Given the description of an element on the screen output the (x, y) to click on. 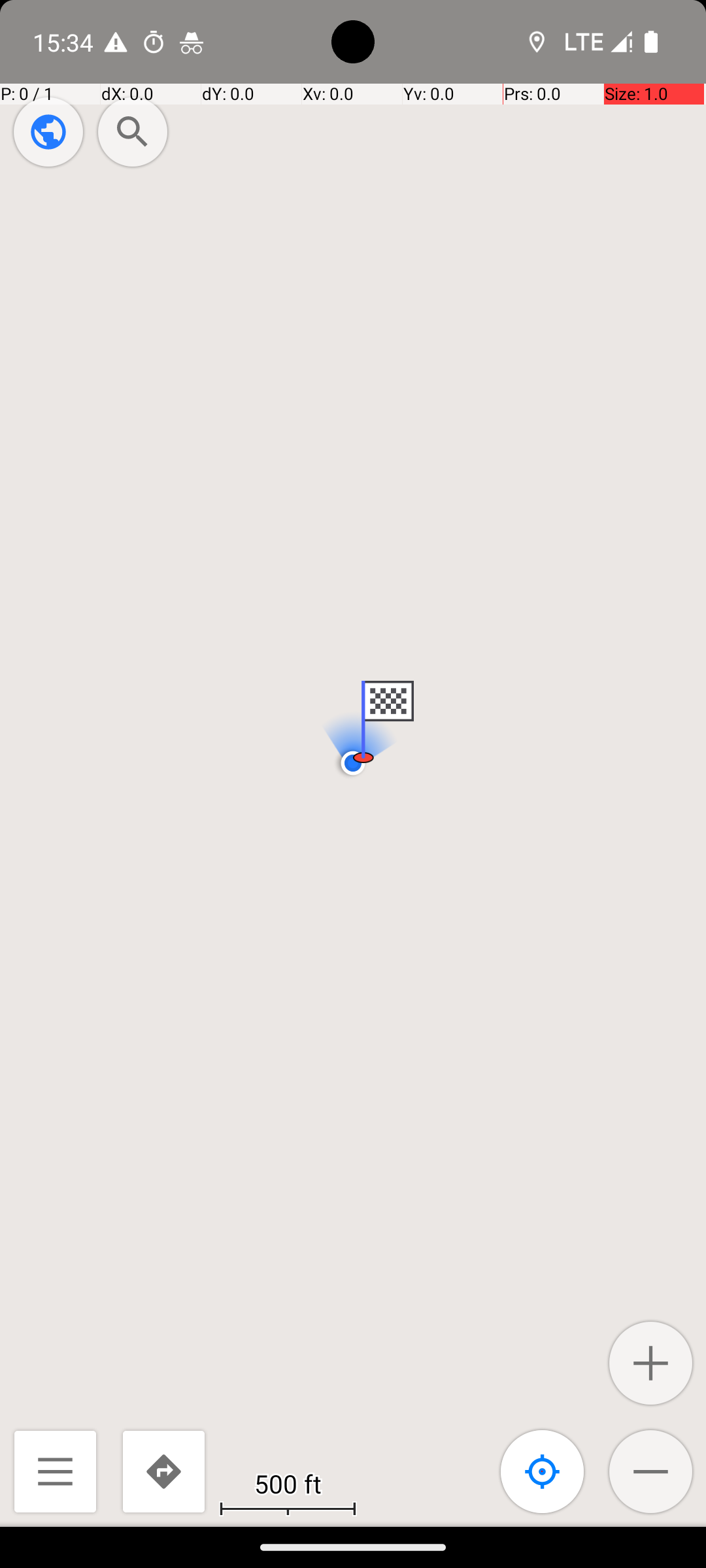
500 ft Element type: android.widget.TextView (287, 1483)
Map linked to location Element type: android.widget.ImageButton (542, 1471)
